Given the description of an element on the screen output the (x, y) to click on. 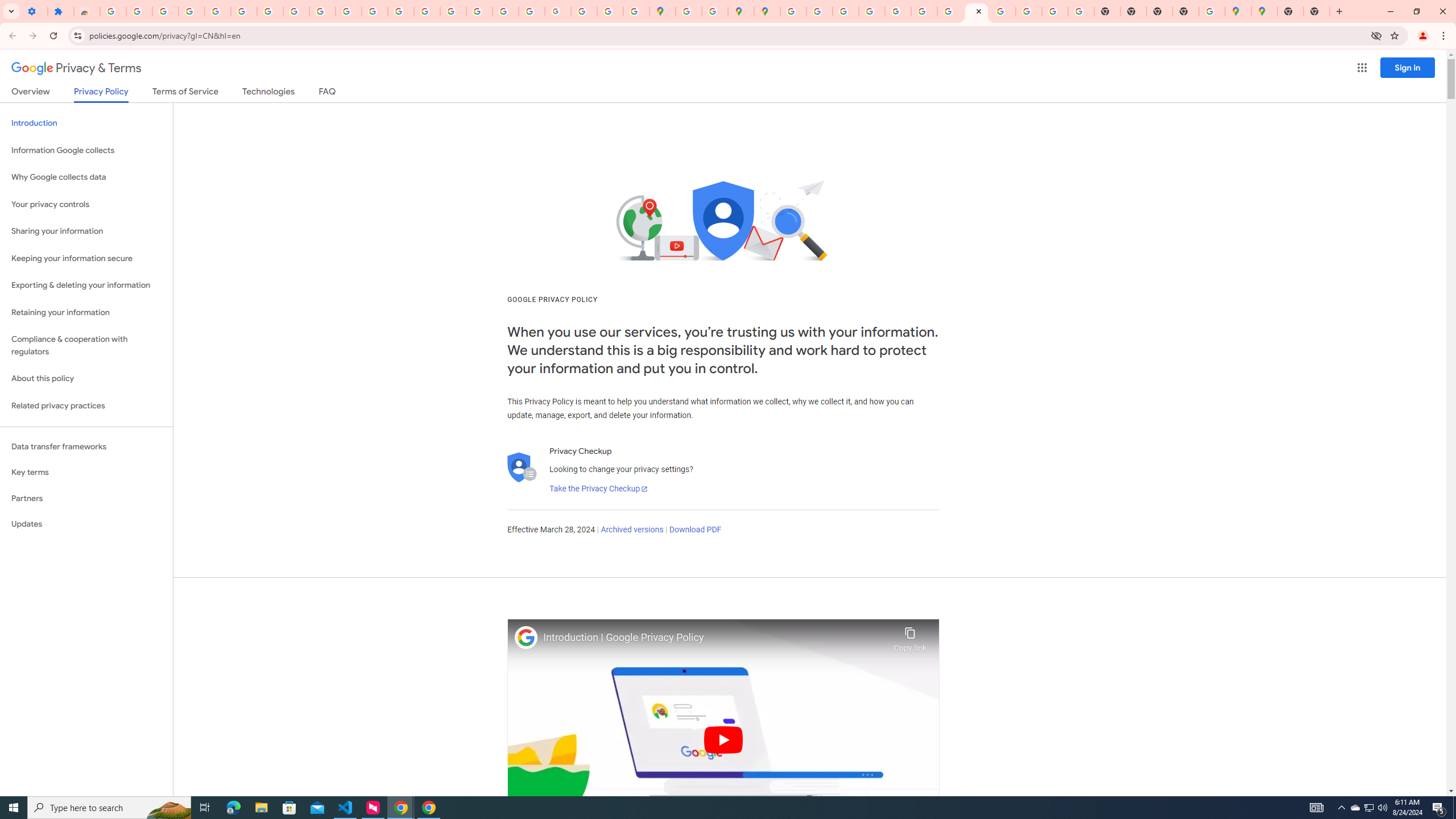
Google Maps (1264, 11)
https://scholar.google.com/ (400, 11)
Policy Accountability and Transparency - Transparency Center (792, 11)
